Given the description of an element on the screen output the (x, y) to click on. 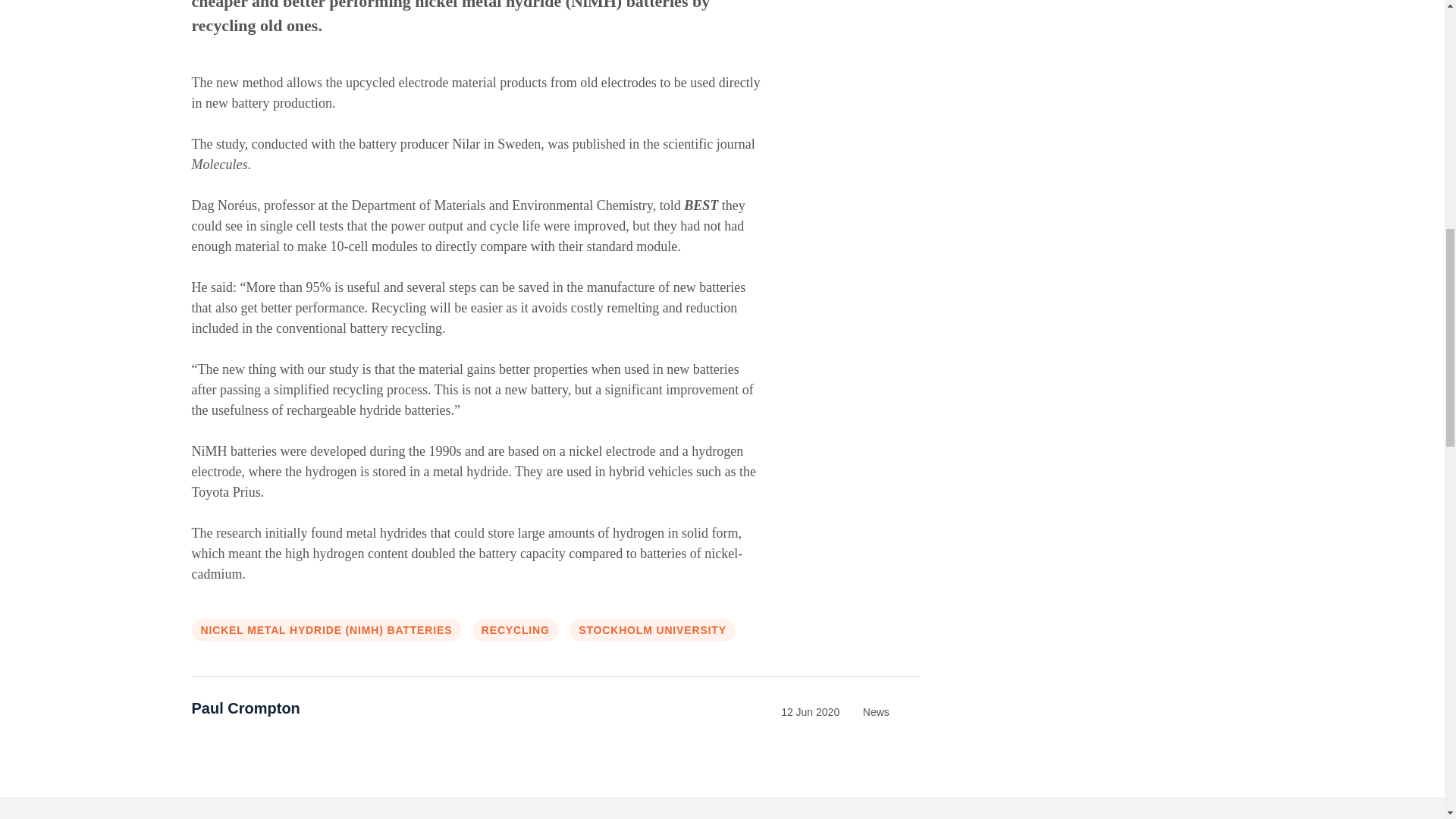
RECYCLING (515, 630)
